Given the description of an element on the screen output the (x, y) to click on. 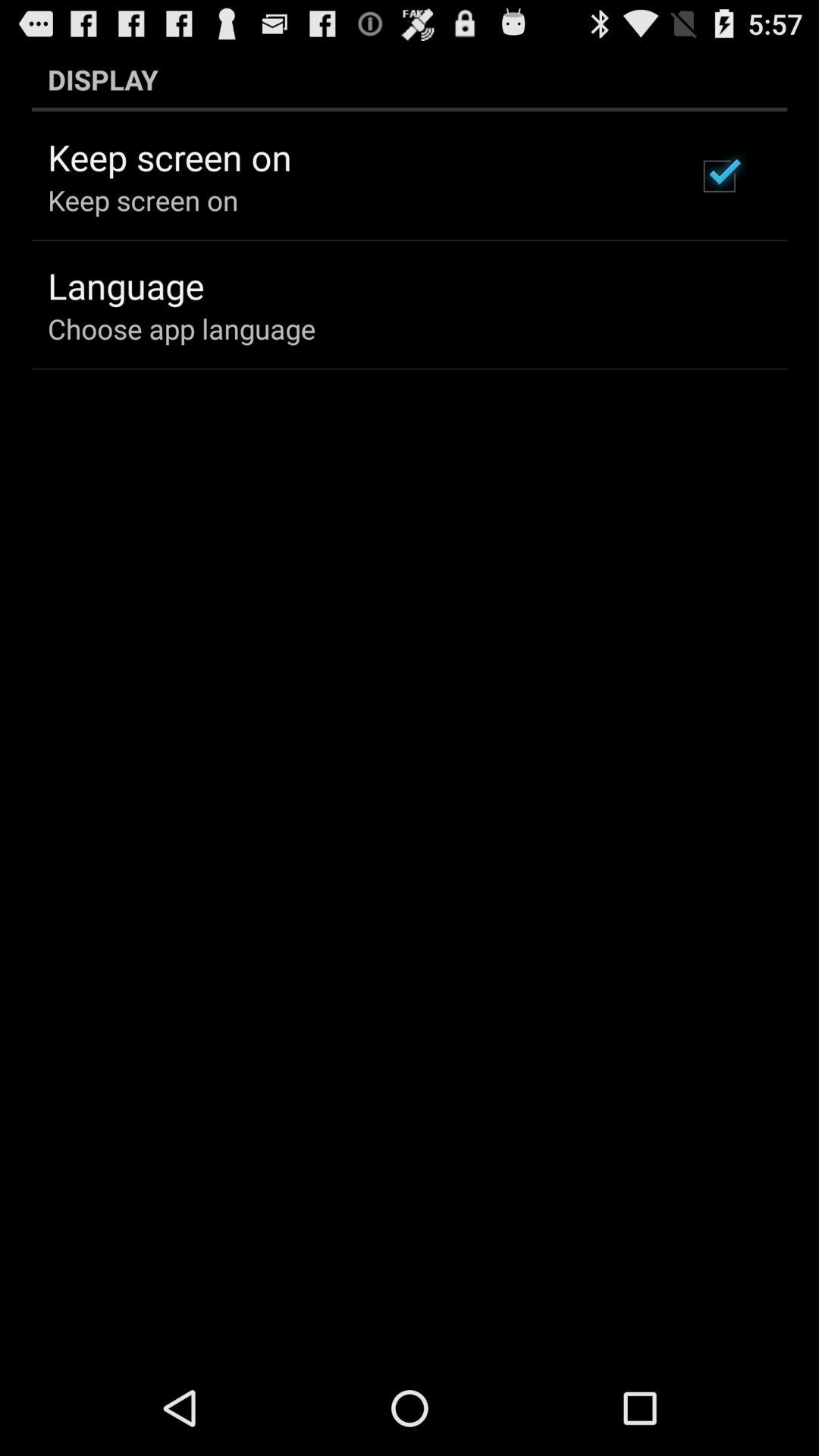
tap the app next to keep screen on (719, 176)
